Given the description of an element on the screen output the (x, y) to click on. 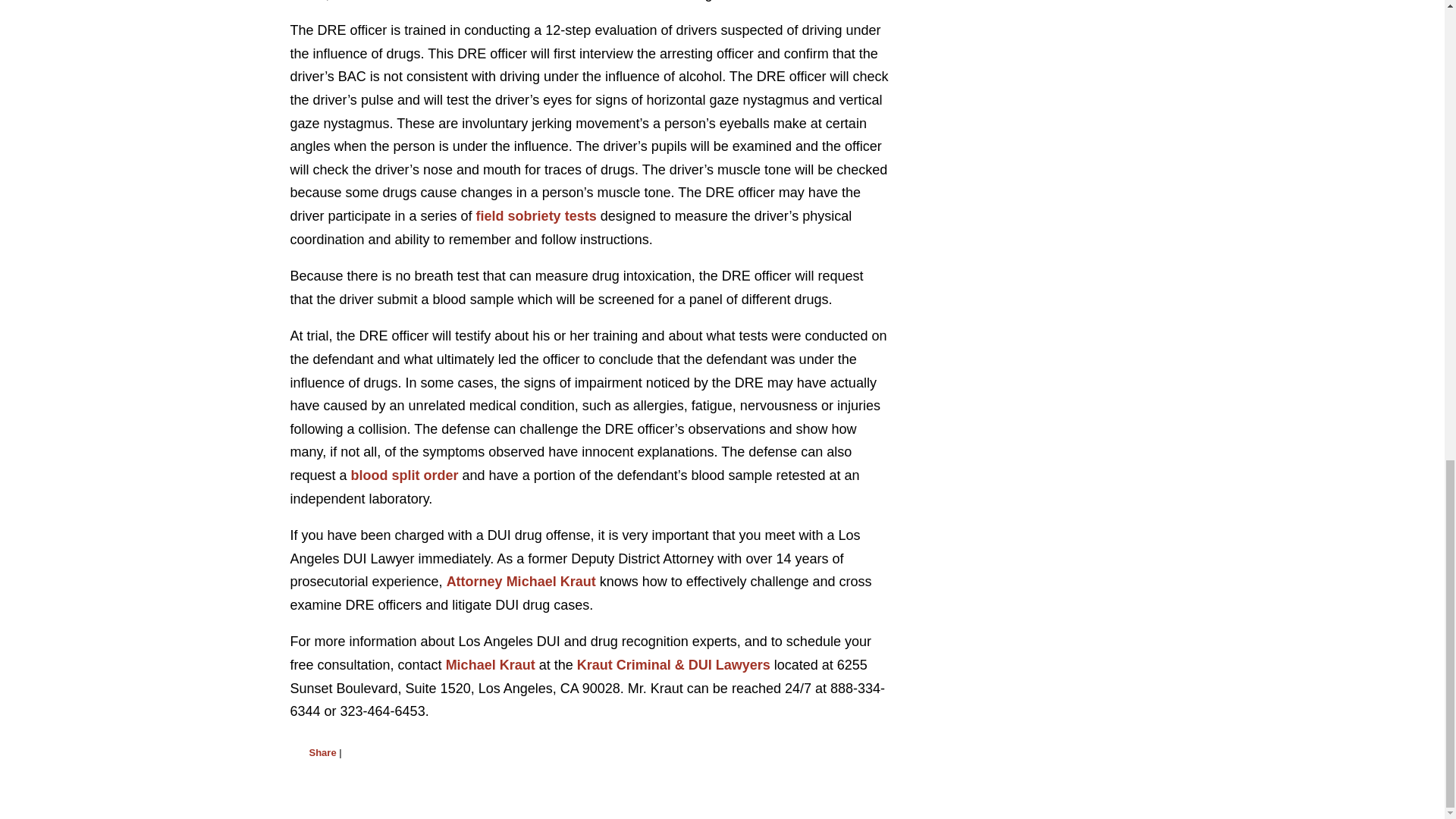
field sobriety tests (537, 215)
Share (322, 752)
Attorney Michael Kraut (522, 581)
blood split order (406, 475)
Michael Kraut (491, 664)
